Given the description of an element on the screen output the (x, y) to click on. 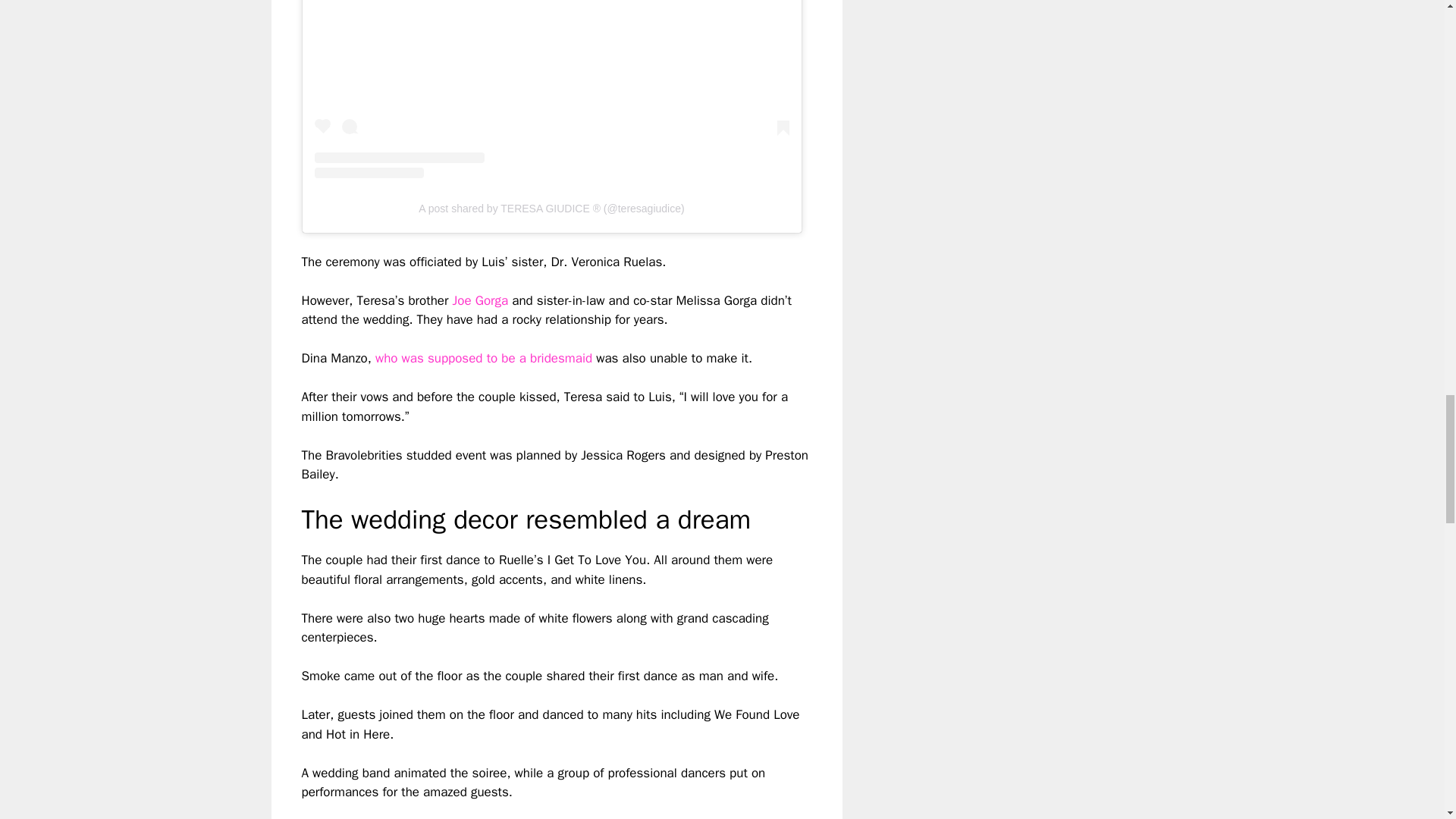
View this post on Instagram (551, 89)
Joe Gorga (479, 300)
who was supposed to be a bridesmaid (483, 358)
